Given the description of an element on the screen output the (x, y) to click on. 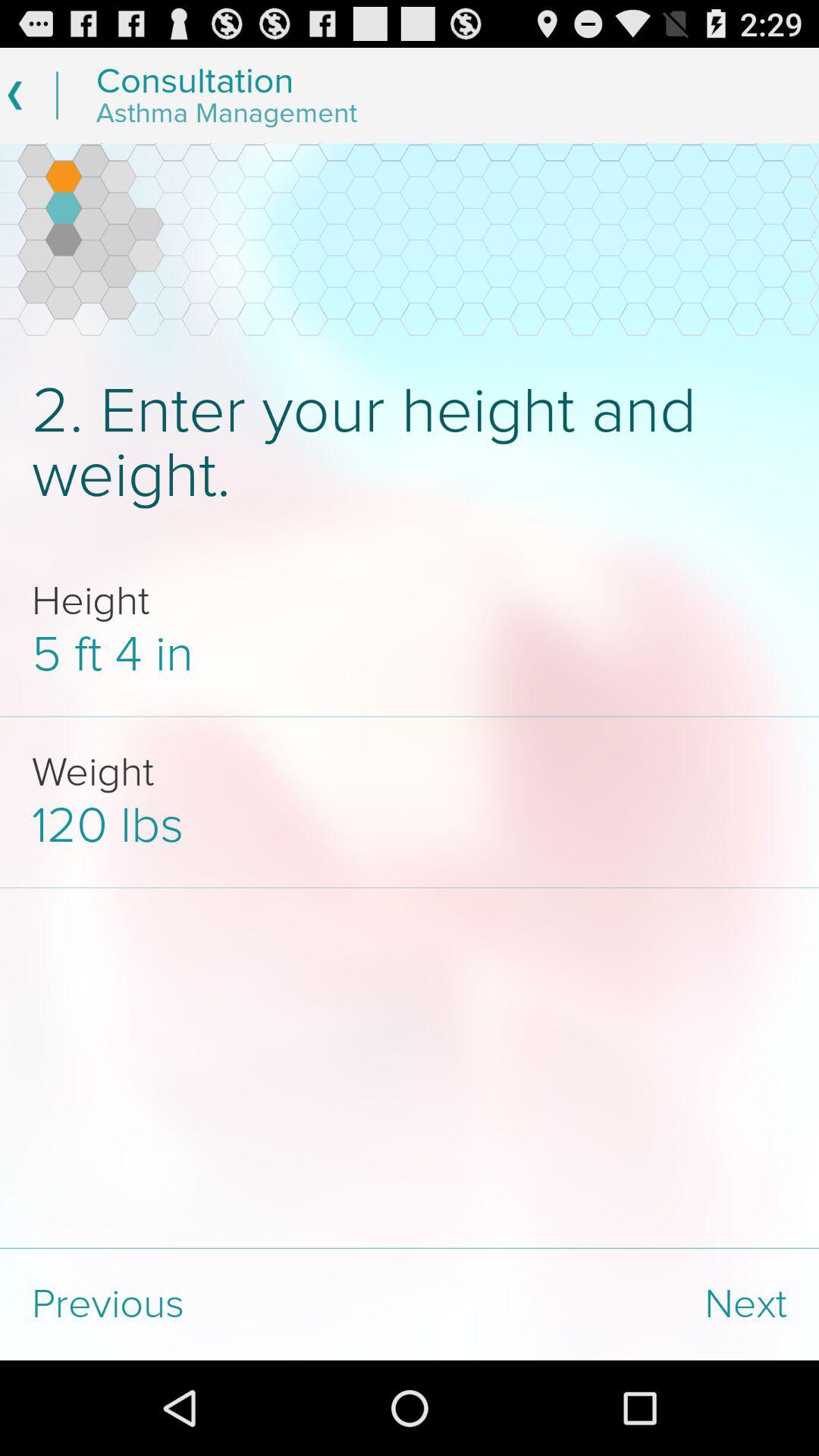
open the 120 lbs icon (409, 825)
